Given the description of an element on the screen output the (x, y) to click on. 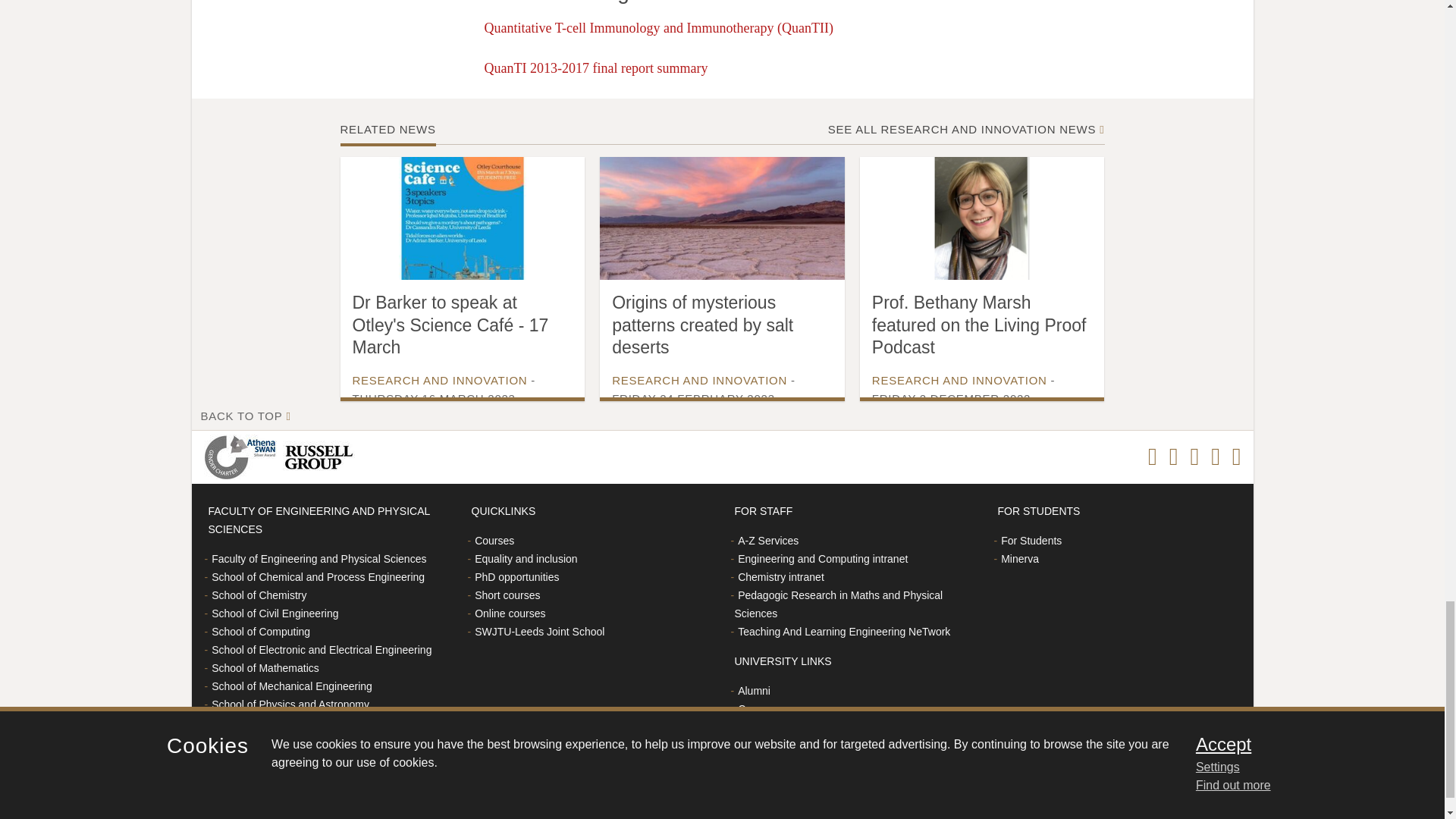
Go to Facebook page (1152, 457)
Go to Twitter page (1193, 457)
Visit Russell Group (320, 456)
Go to Weibo page (1215, 457)
Go to Instagram page (1173, 457)
Go to YouTube page (1236, 457)
Visit Athena SWAN Silver award (242, 456)
